Given the description of an element on the screen output the (x, y) to click on. 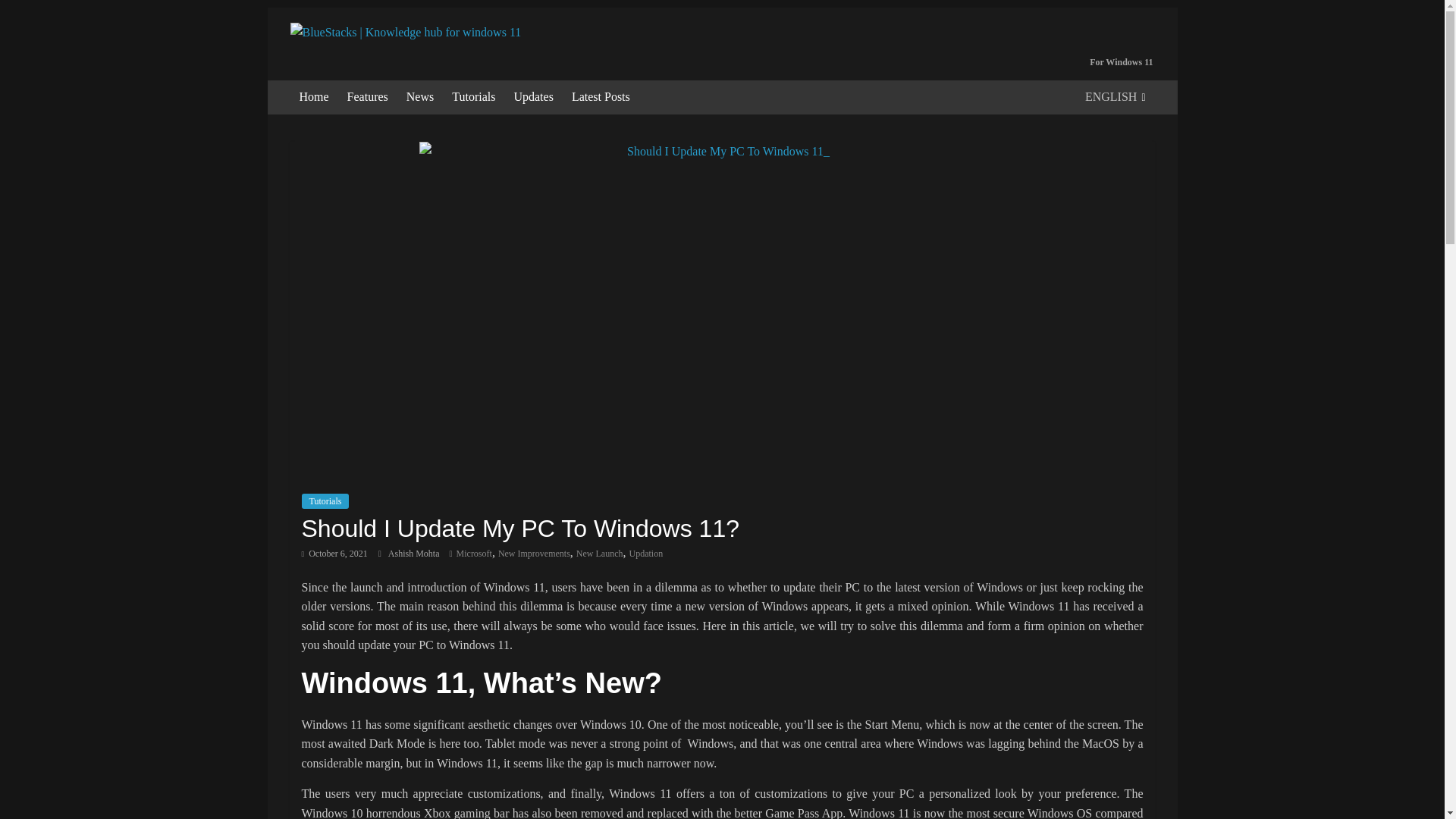
Ashish Mohta (415, 552)
Latest Posts (600, 96)
10:30 am (334, 552)
Features (367, 96)
ENGLISH (1114, 97)
News (419, 96)
New Improvements (533, 552)
New Launch (599, 552)
Tutorials (325, 500)
Ashish Mohta (415, 552)
Microsoft (474, 552)
Updation (645, 552)
English (1114, 97)
Home (313, 96)
